Given the description of an element on the screen output the (x, y) to click on. 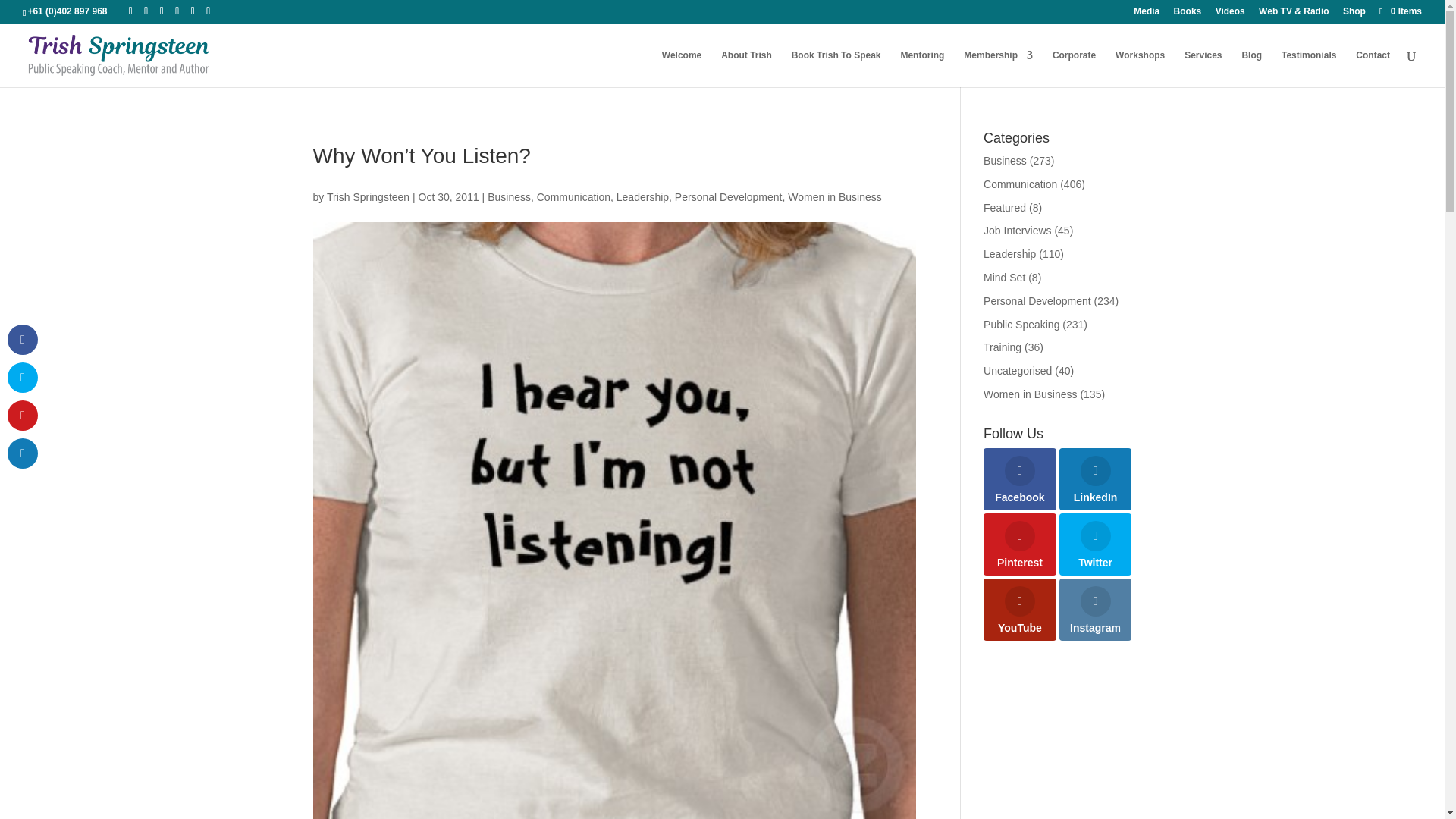
Services (1203, 67)
Media (1146, 14)
Mentoring (921, 67)
Membership (997, 67)
About Trish (745, 67)
Welcome (681, 67)
Shop (1353, 14)
Contact (1372, 67)
Workshops (1139, 67)
Videos (1229, 14)
Testimonials (1308, 67)
Posts by Trish Springsteen (367, 196)
0 Items (1399, 10)
Books (1187, 14)
Book Trish To Speak (836, 67)
